Given the description of an element on the screen output the (x, y) to click on. 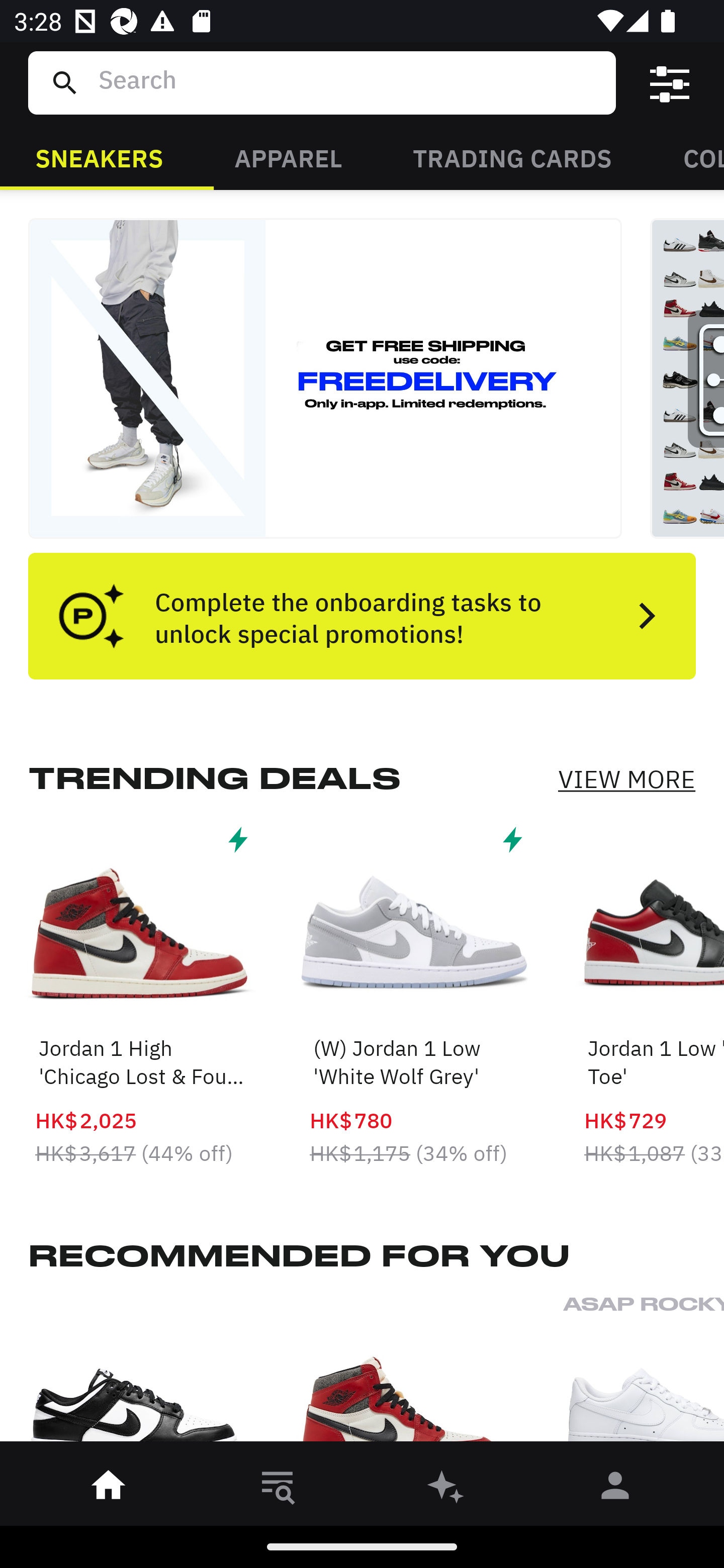
Search (349, 82)
 (669, 82)
SNEAKERS (99, 156)
APPAREL (287, 156)
TRADING CARDS (512, 156)
VIEW MORE (626, 779)
ASAP ROCKY (643, 1373)
󰋜 (108, 1488)
󱎸 (277, 1488)
󰫢 (446, 1488)
󰀄 (615, 1488)
